Given the description of an element on the screen output the (x, y) to click on. 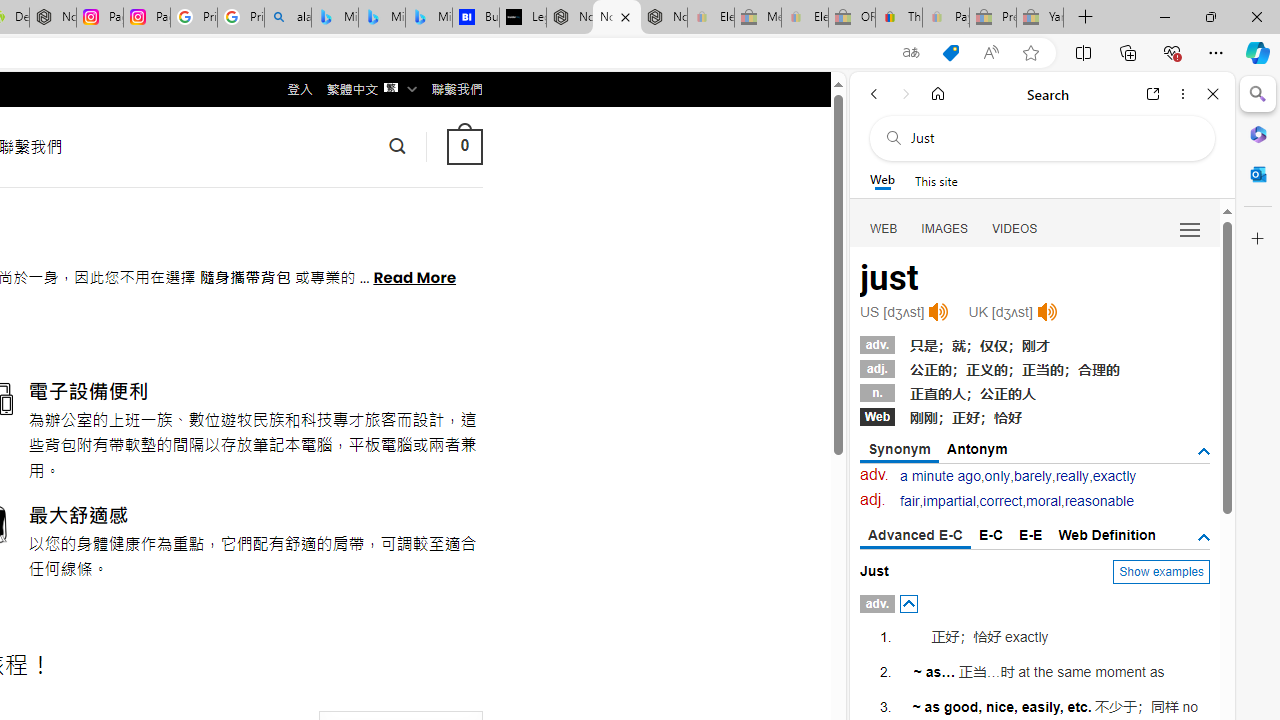
correct (1000, 501)
moral (1044, 501)
Advanced E-C (915, 536)
Yard, Garden & Outdoor Living - Sleeping (1040, 17)
